Given the description of an element on the screen output the (x, y) to click on. 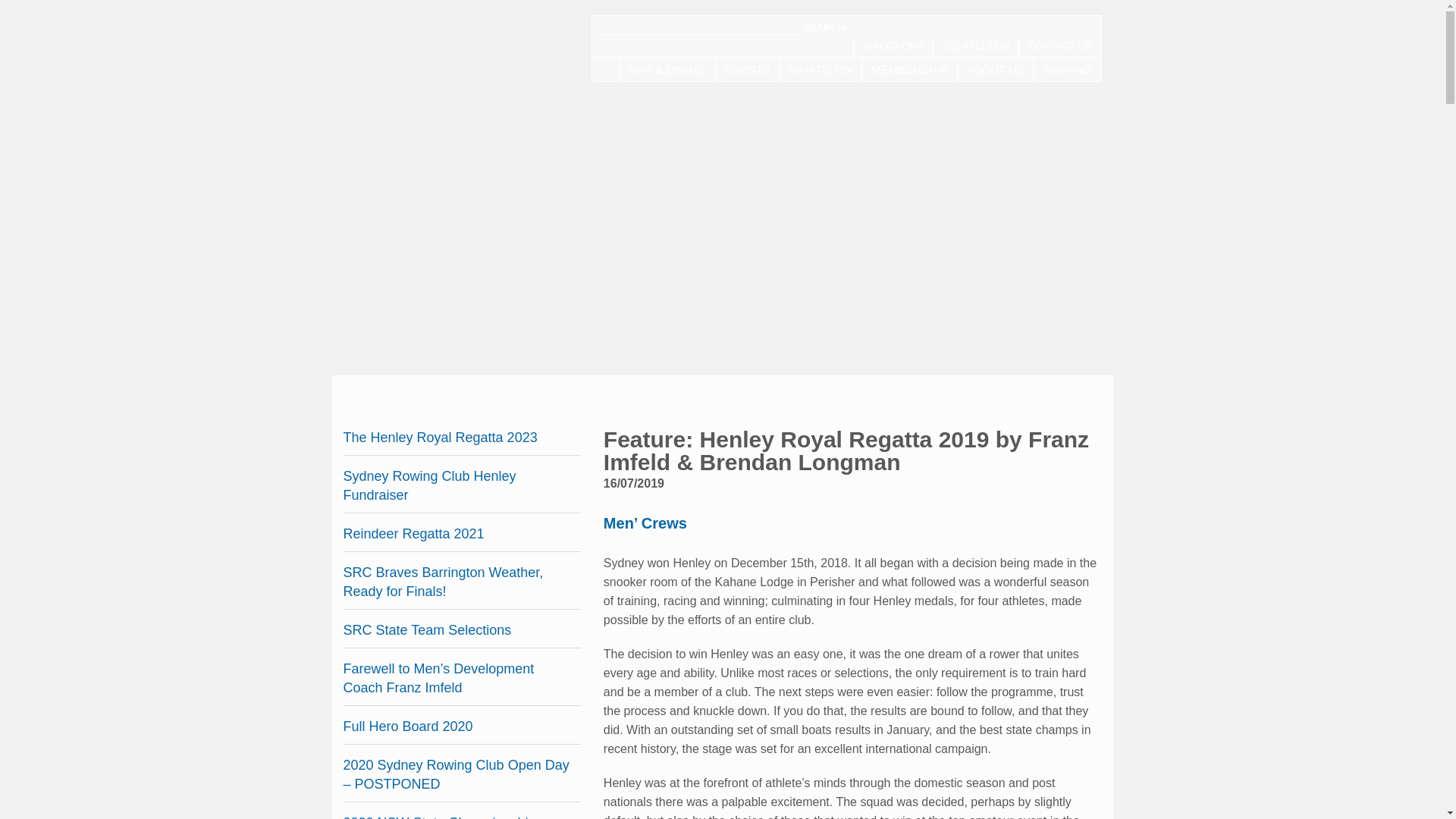
HOME (605, 69)
DIRECTIONS (893, 45)
CONTACT US (1059, 45)
EVENTS (747, 69)
ABOUT US (995, 69)
MEMBERSHIP (908, 69)
SEARCH (824, 26)
